Given the description of an element on the screen output the (x, y) to click on. 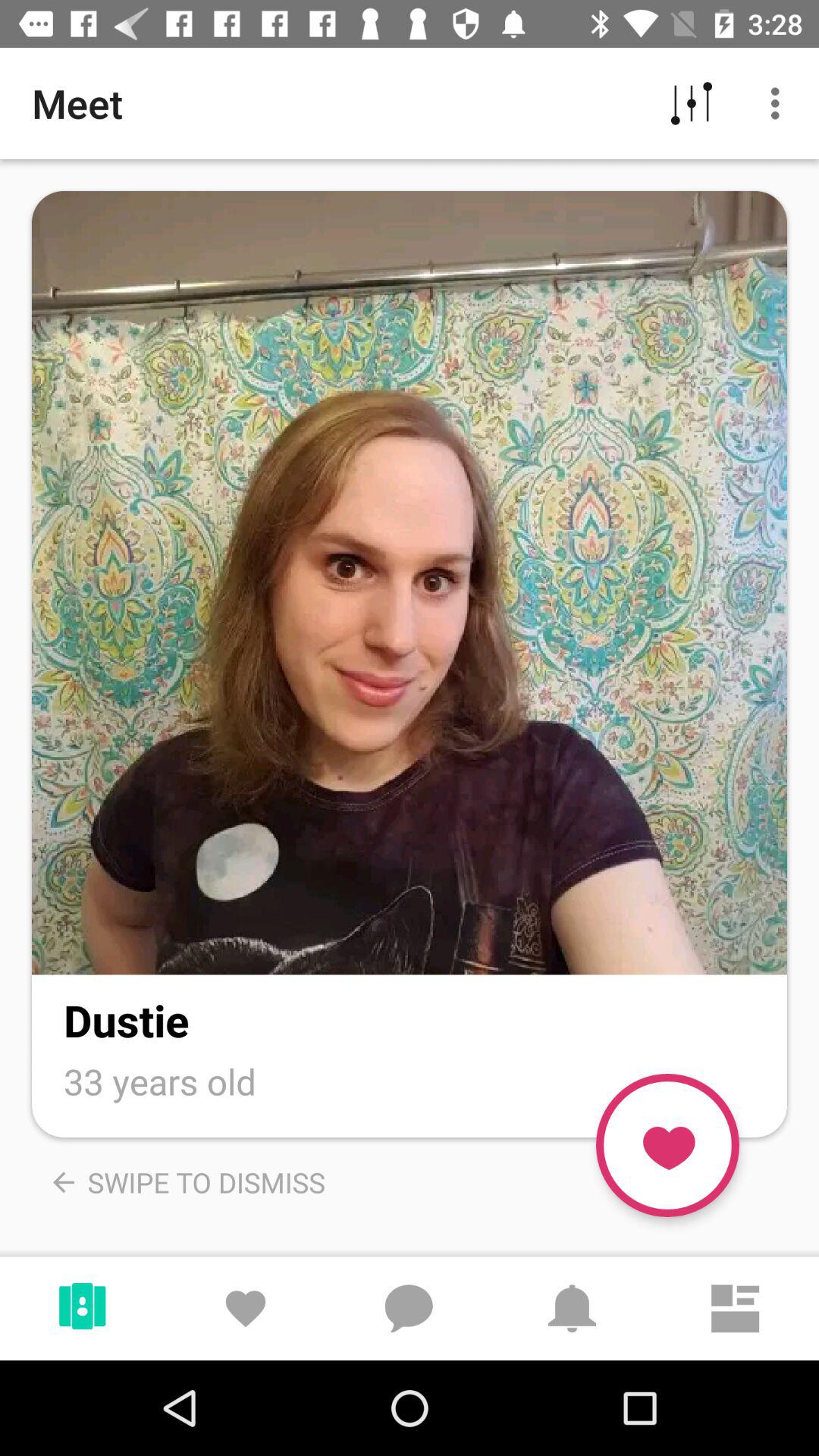
jump until 33 years old icon (159, 1081)
